Given the description of an element on the screen output the (x, y) to click on. 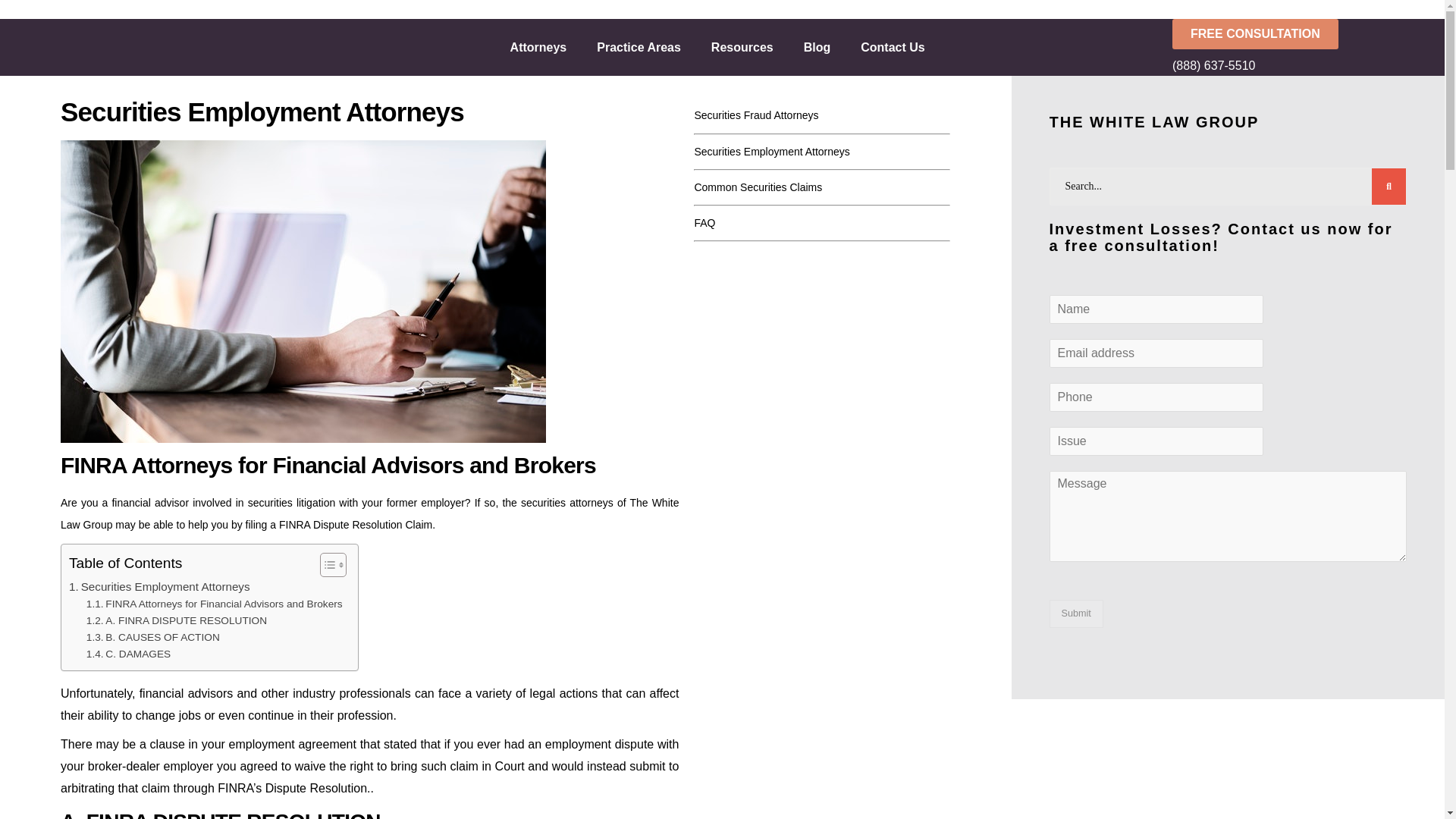
B. CAUSES OF ACTION (152, 637)
C. DAMAGES (127, 654)
Securities Employment Attorneys (159, 587)
Practice Areas (637, 47)
Search... (1228, 186)
Blog (817, 47)
A. FINRA DISPUTE RESOLUTION (175, 620)
Attorneys (538, 47)
Contact Us (892, 47)
FINRA Attorneys for Financial Advisors and Brokers (213, 604)
